Given the description of an element on the screen output the (x, y) to click on. 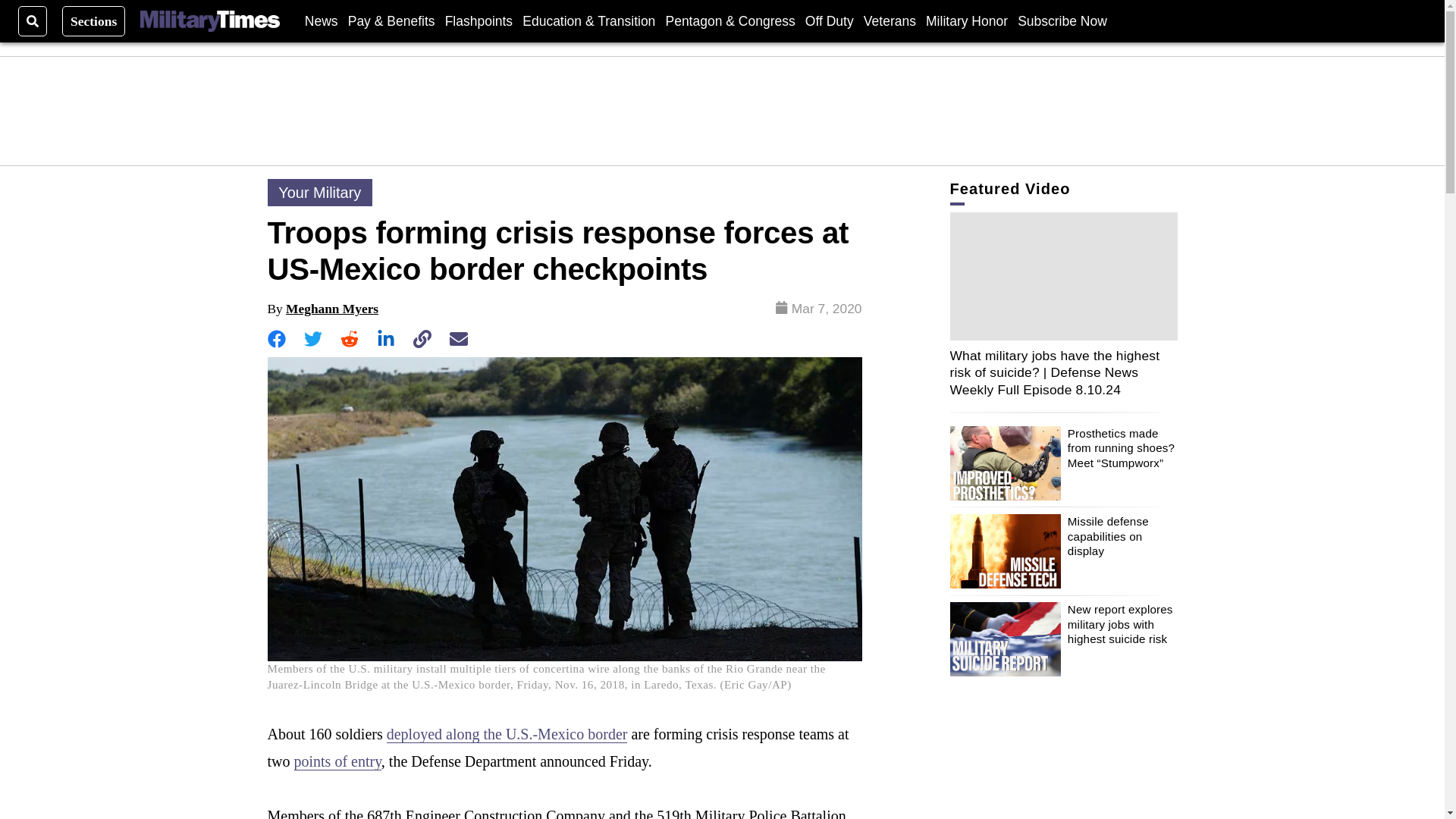
Flashpoints (479, 20)
Military Times Logo (209, 20)
Veterans (889, 20)
Off Duty (829, 20)
News (320, 20)
Military Honor (966, 20)
Sections (93, 20)
